Given the description of an element on the screen output the (x, y) to click on. 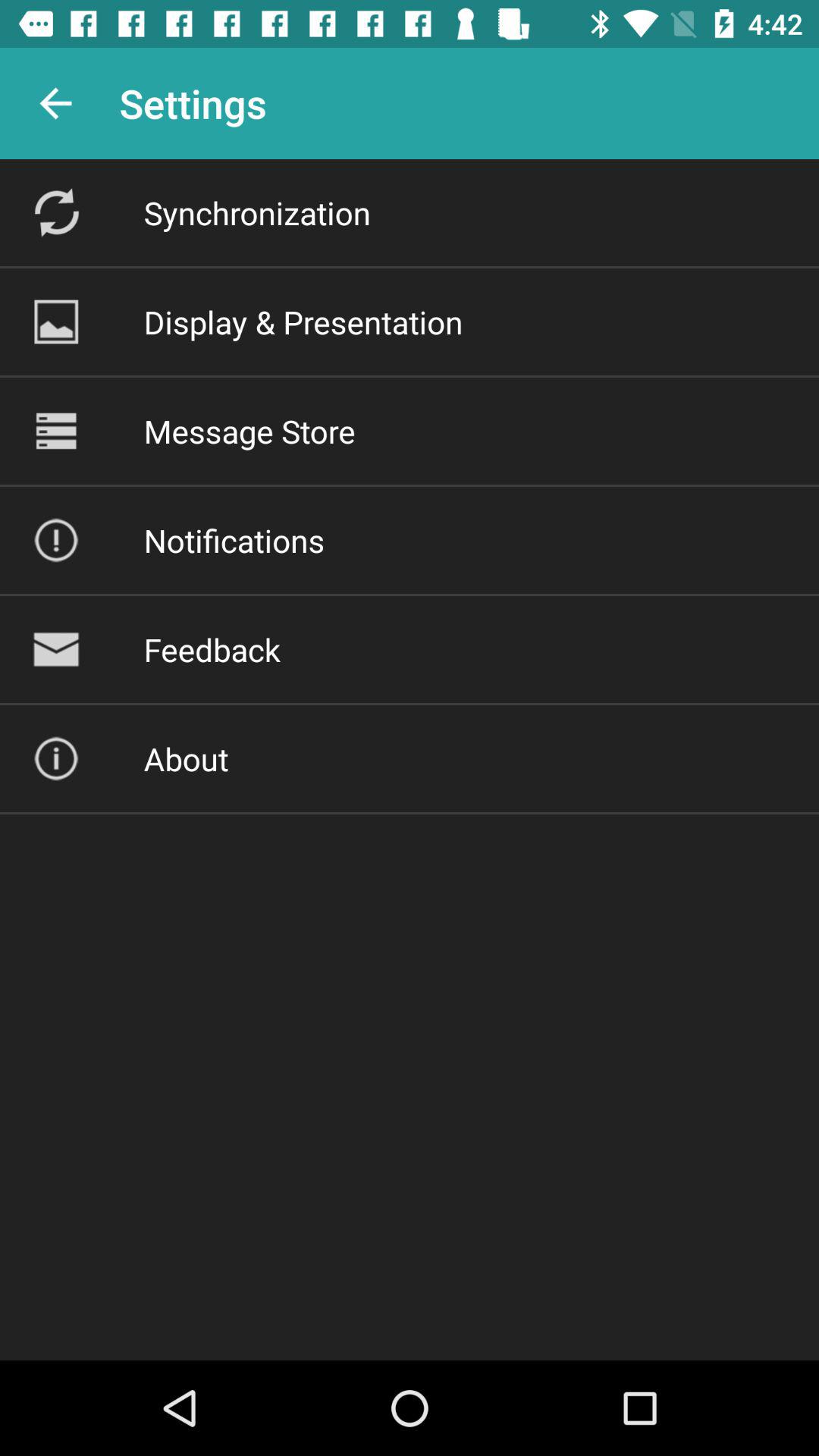
select about icon (185, 758)
